Given the description of an element on the screen output the (x, y) to click on. 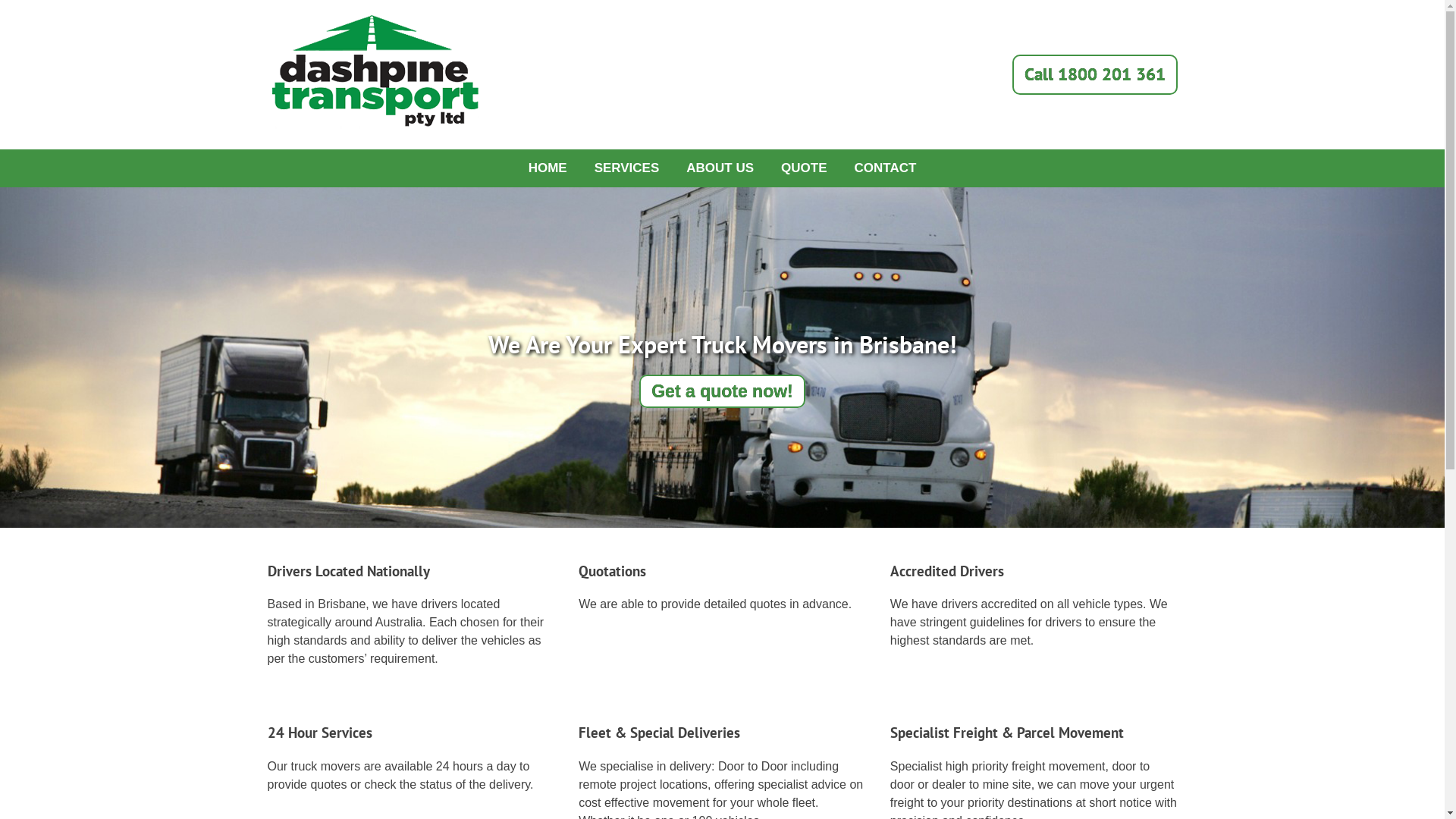
CONTACT Element type: text (885, 168)
SERVICES Element type: text (626, 168)
ABOUT US Element type: text (719, 168)
Call 1800 201 361 Element type: text (1093, 74)
HOME Element type: text (547, 168)
QUOTE Element type: text (803, 168)
Get a quote now! Element type: text (722, 390)
